Given the description of an element on the screen output the (x, y) to click on. 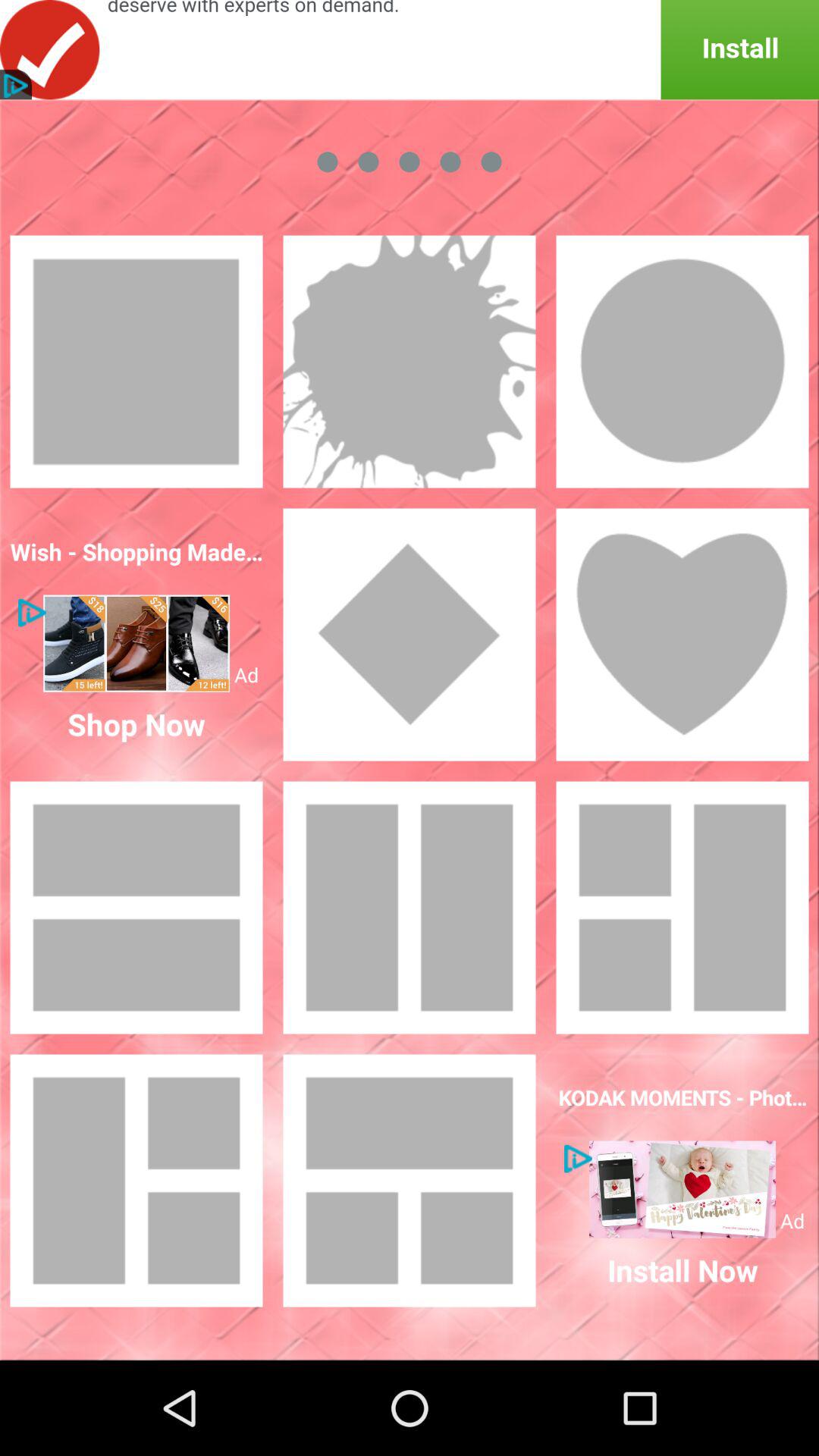
select the three part of squre (136, 1180)
